Given the description of an element on the screen output the (x, y) to click on. 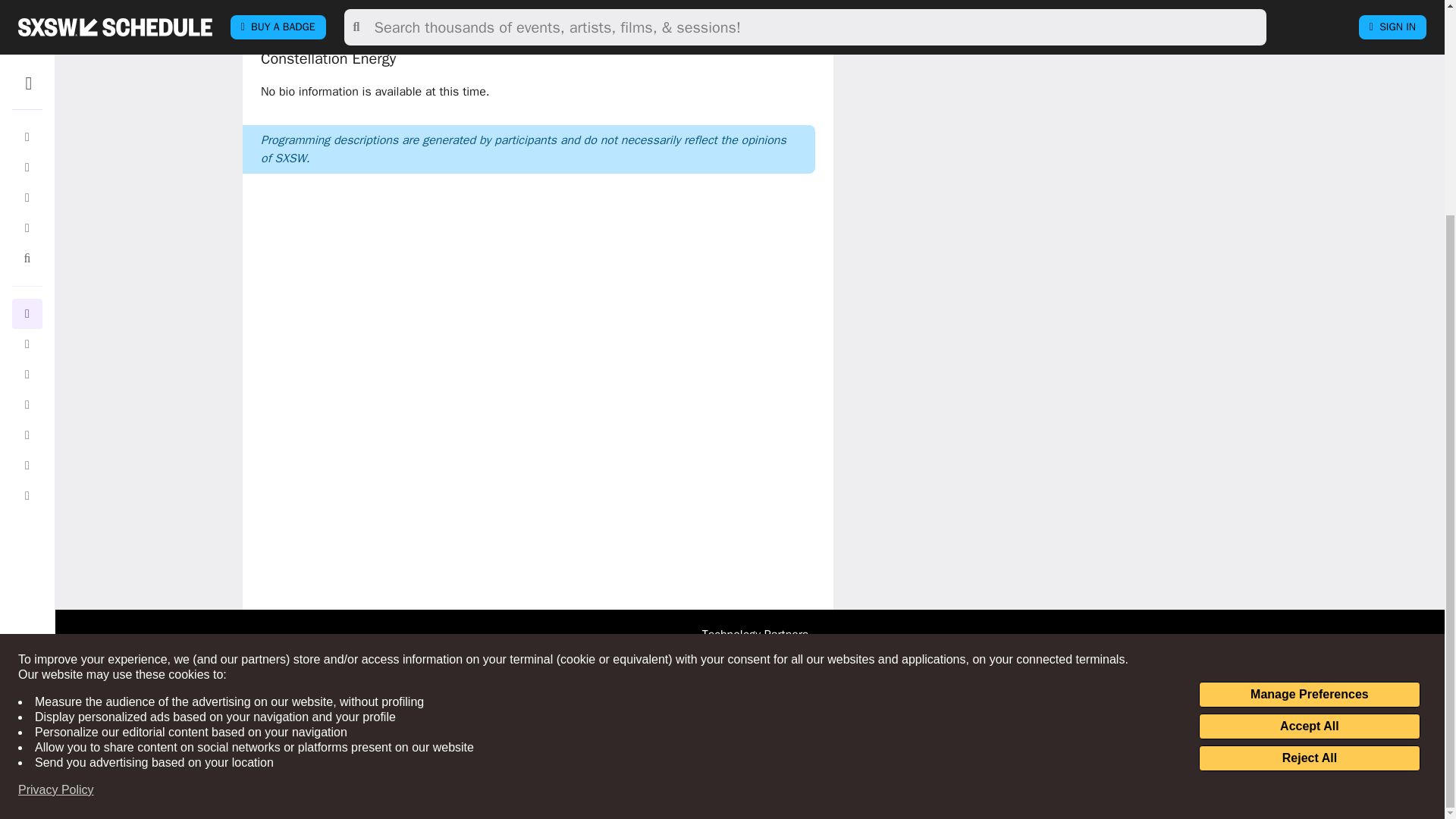
Privacy Policy (55, 507)
Manage Preferences (1309, 412)
Reject All (1309, 475)
Accept All (1309, 444)
